Given the description of an element on the screen output the (x, y) to click on. 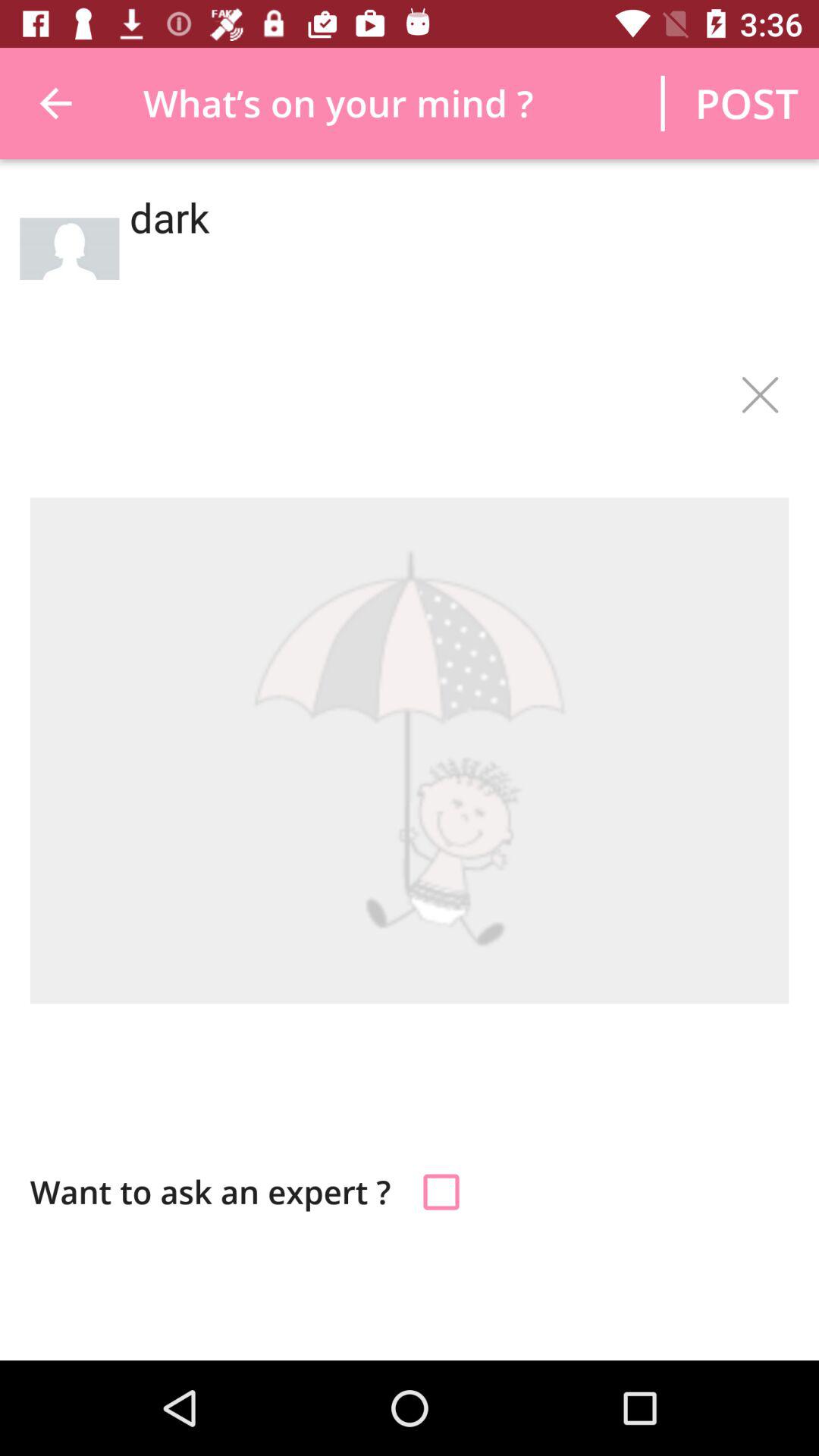
turn off the post item (746, 103)
